Given the description of an element on the screen output the (x, y) to click on. 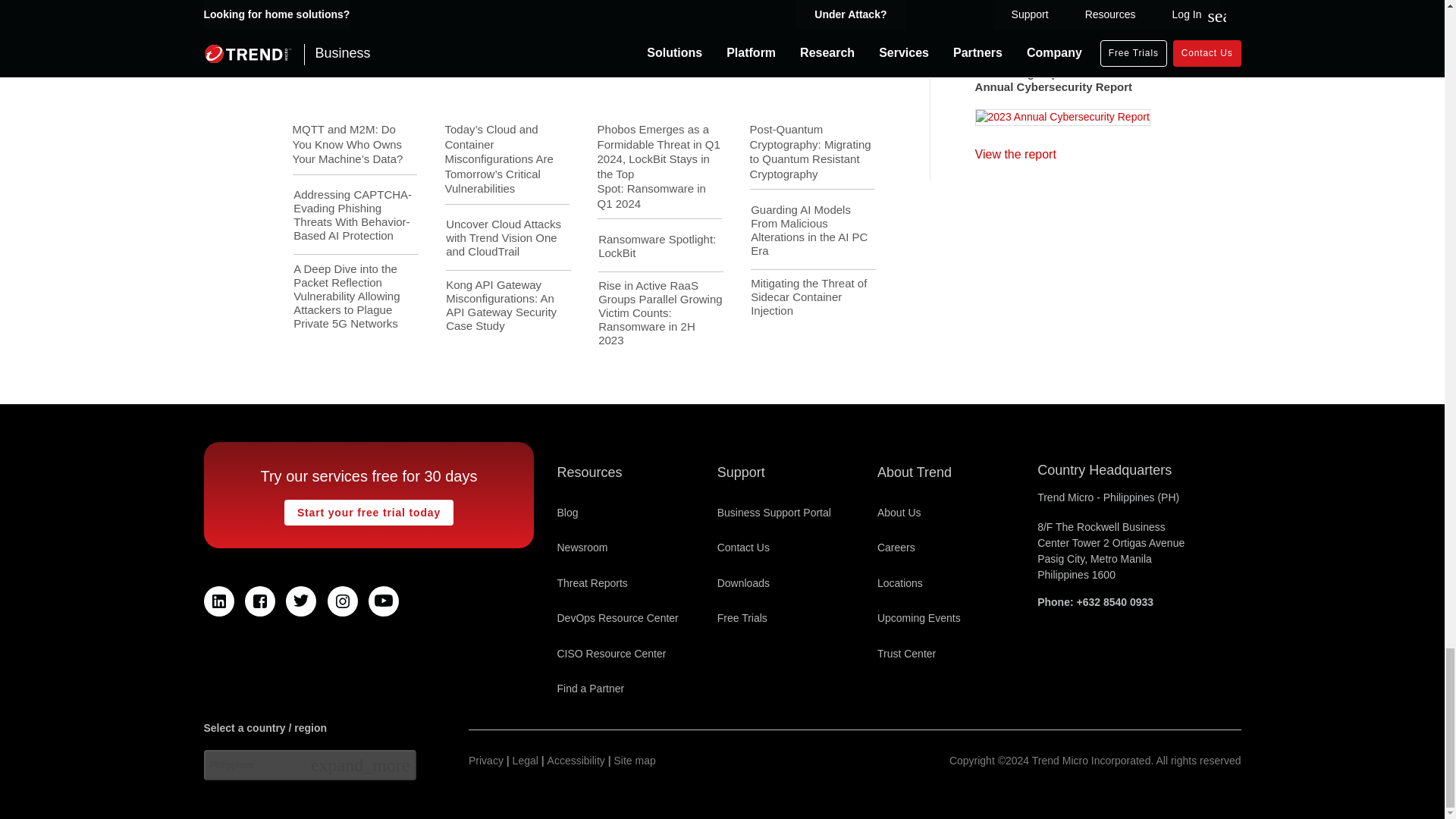
privacy (485, 760)
Site map (635, 760)
Legal (525, 760)
Accessibility (576, 760)
